Given the description of an element on the screen output the (x, y) to click on. 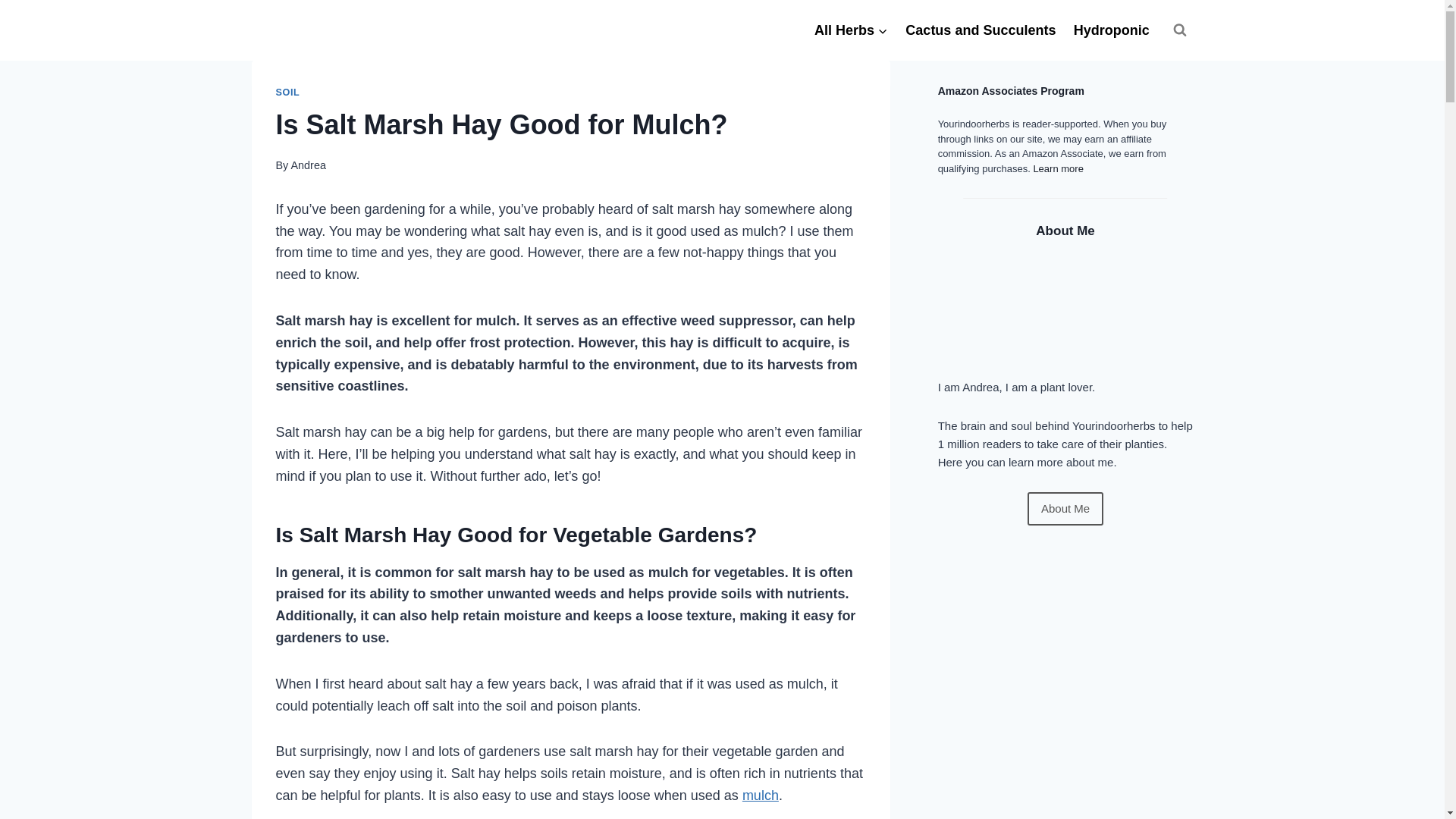
mulch (760, 795)
SOIL (287, 91)
Cactus and Succulents (980, 30)
All Herbs (850, 30)
Hydroponic (1110, 30)
Andrea (306, 164)
